Given the description of an element on the screen output the (x, y) to click on. 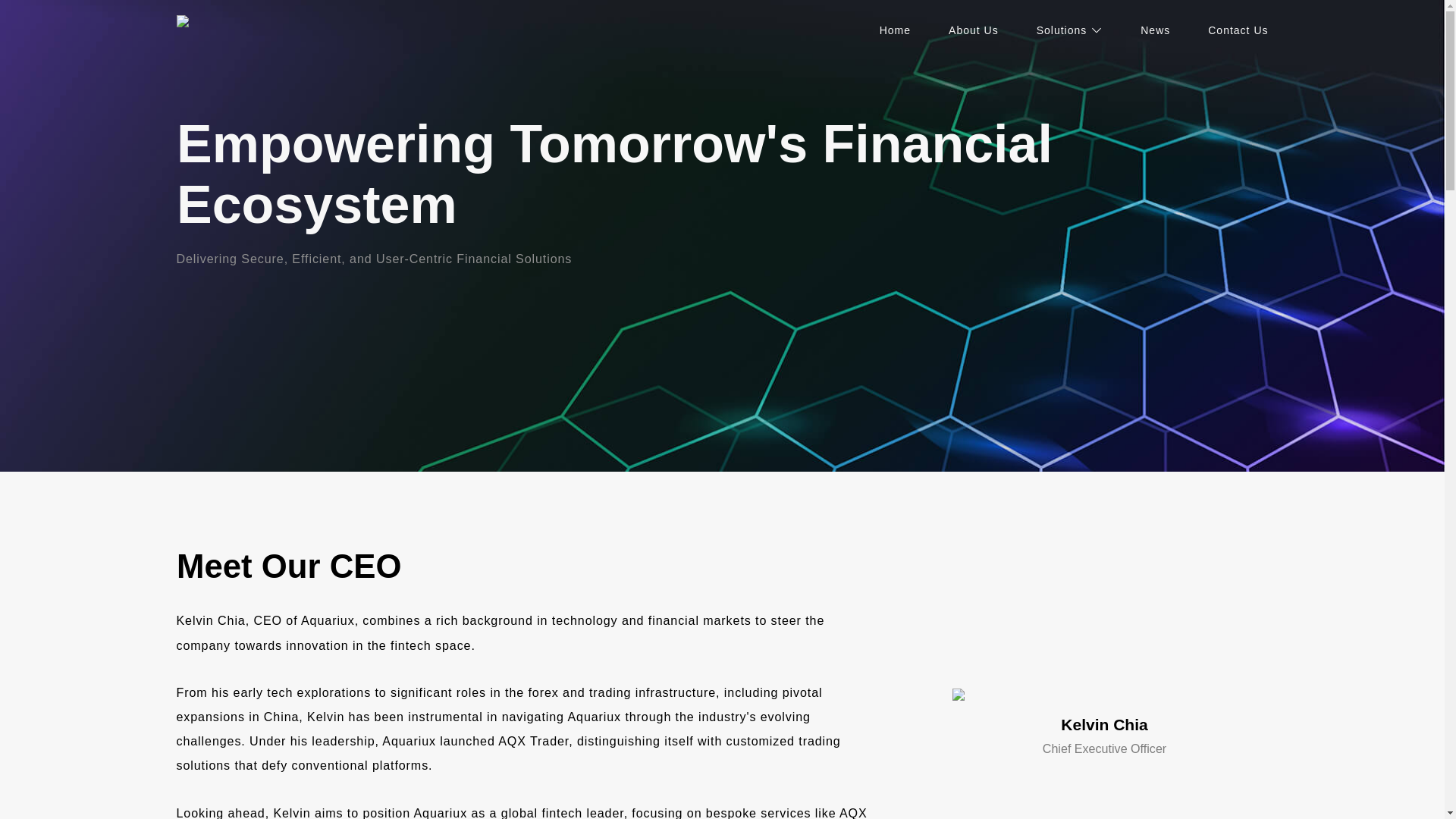
Contact Us (1238, 30)
Home (895, 30)
News (1155, 30)
About Us (973, 30)
